Given the description of an element on the screen output the (x, y) to click on. 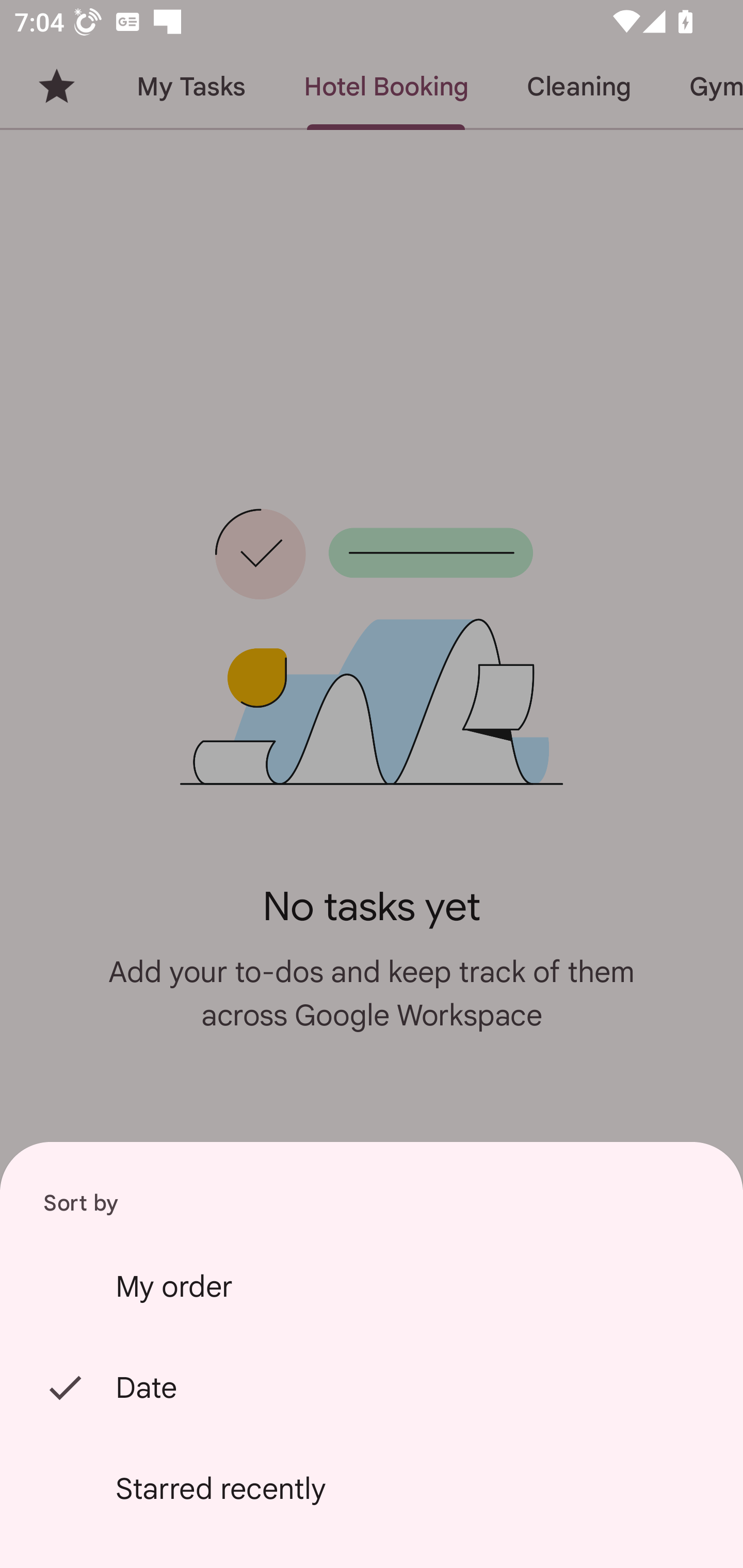
My order (371, 1286)
Date (371, 1387)
Starred recently (371, 1488)
